Given the description of an element on the screen output the (x, y) to click on. 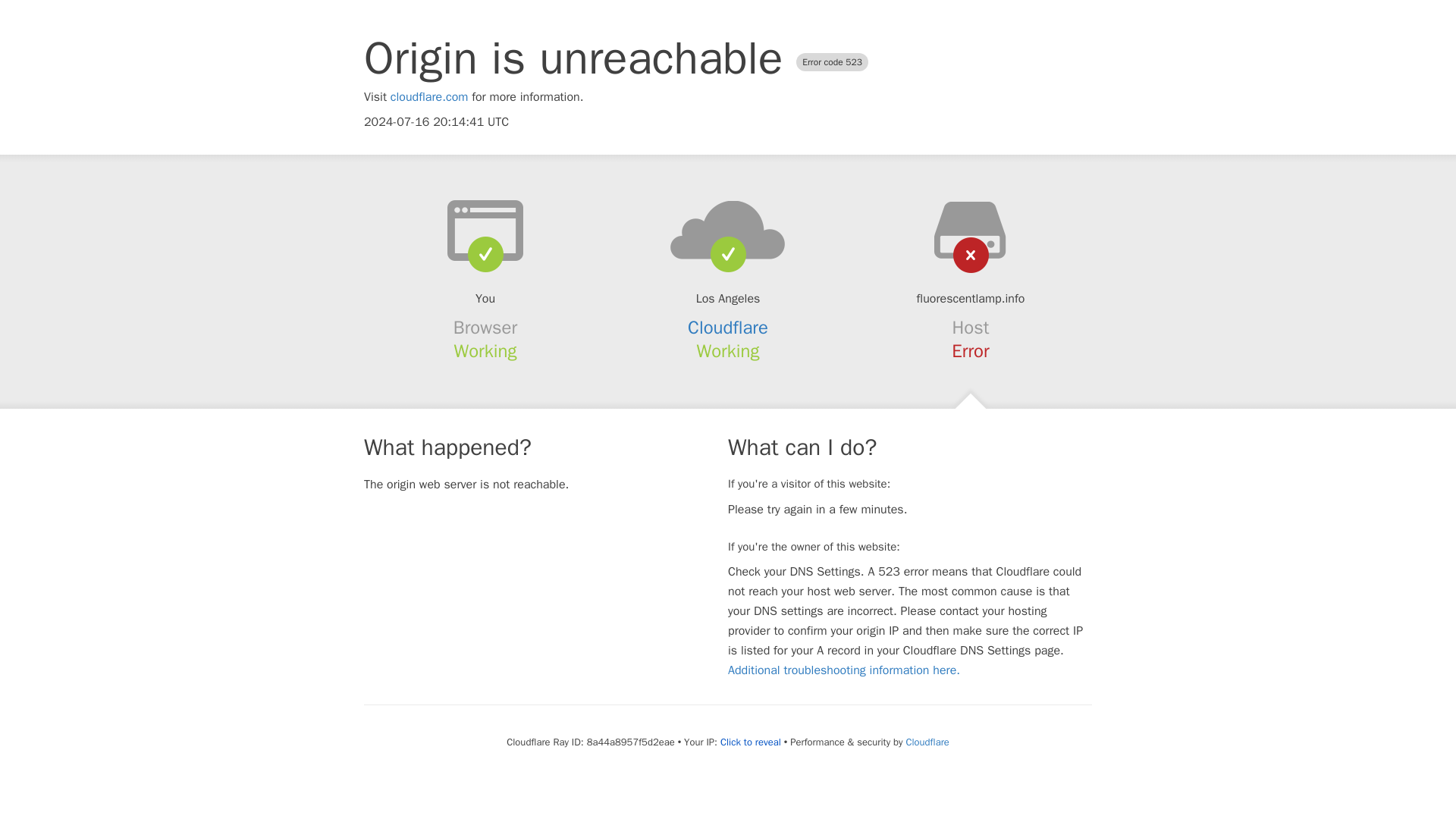
Cloudflare (927, 741)
cloudflare.com (429, 96)
Cloudflare (727, 327)
Click to reveal (750, 742)
Additional troubleshooting information here. (843, 670)
